Given the description of an element on the screen output the (x, y) to click on. 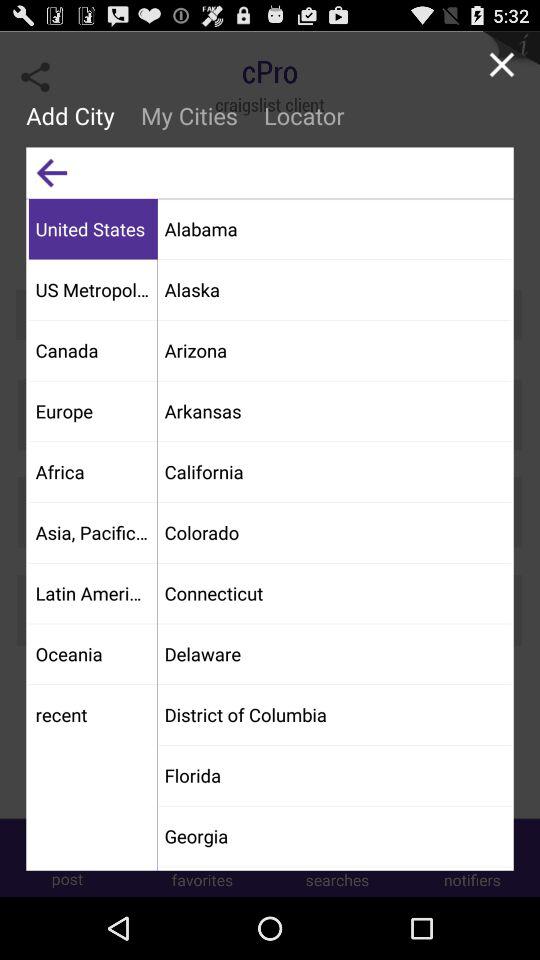
select app above recent (92, 653)
